Given the description of an element on the screen output the (x, y) to click on. 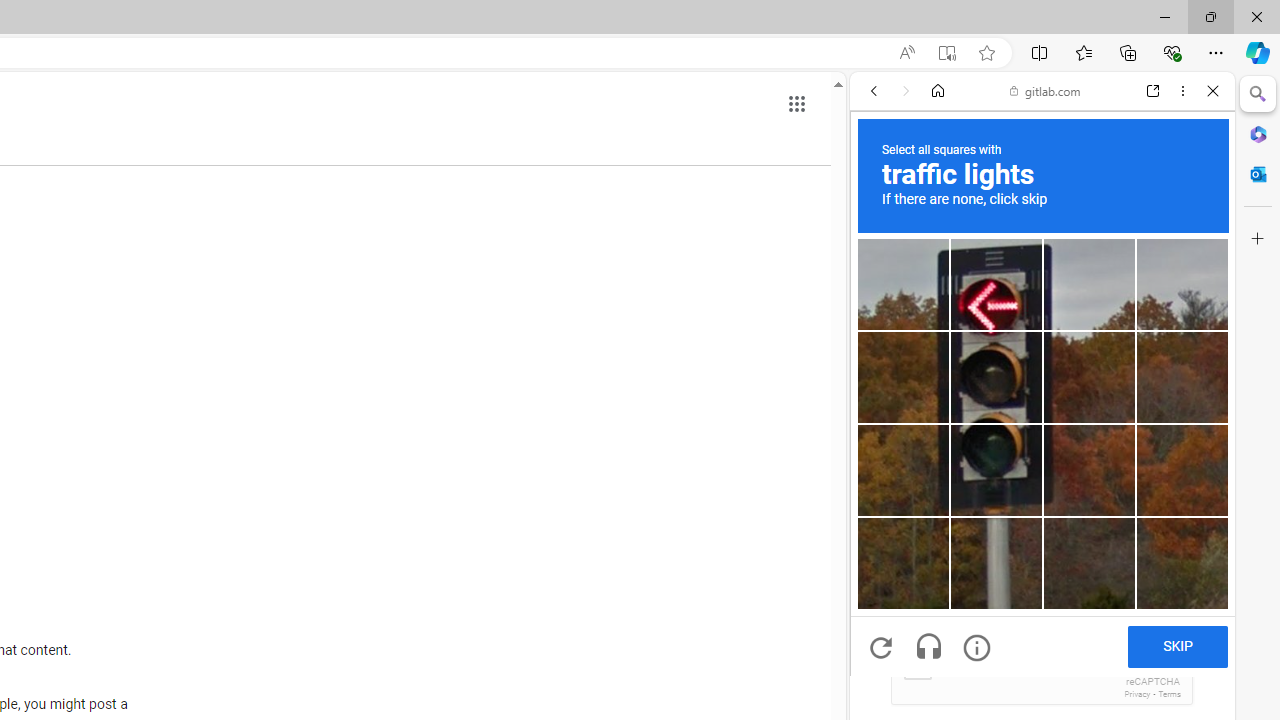
Search Filter, ALL (881, 228)
